Given the description of an element on the screen output the (x, y) to click on. 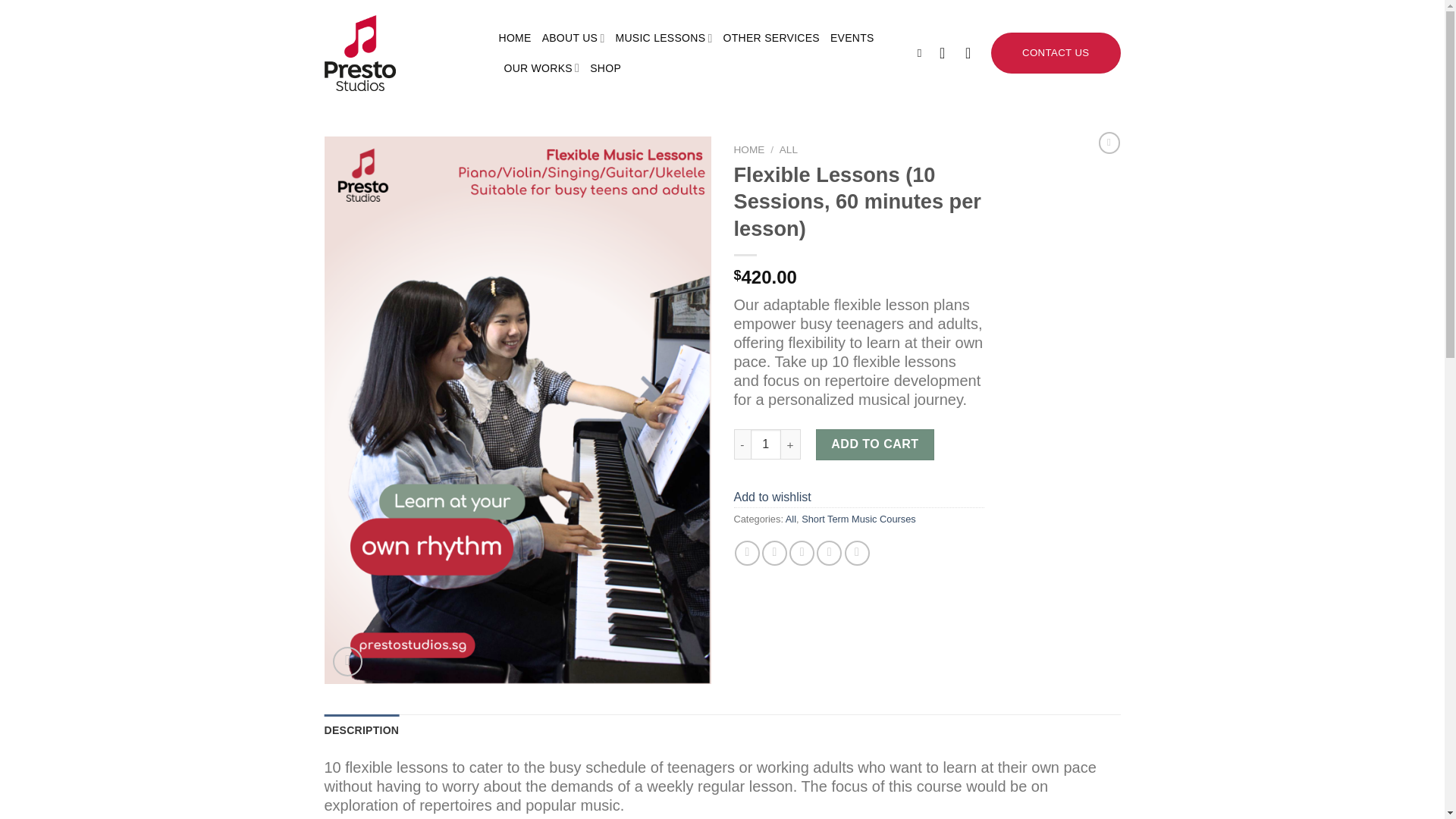
MUSIC LESSONS (664, 38)
Share on Twitter (774, 552)
Presto Academy Pte Ltd - Presto Academy Pte Ltd (400, 53)
Share on LinkedIn (856, 552)
ALL (787, 149)
Email to a Friend (801, 552)
OTHER SERVICES (771, 37)
1 (765, 444)
Qty (765, 444)
SHOP (605, 67)
